Given the description of an element on the screen output the (x, y) to click on. 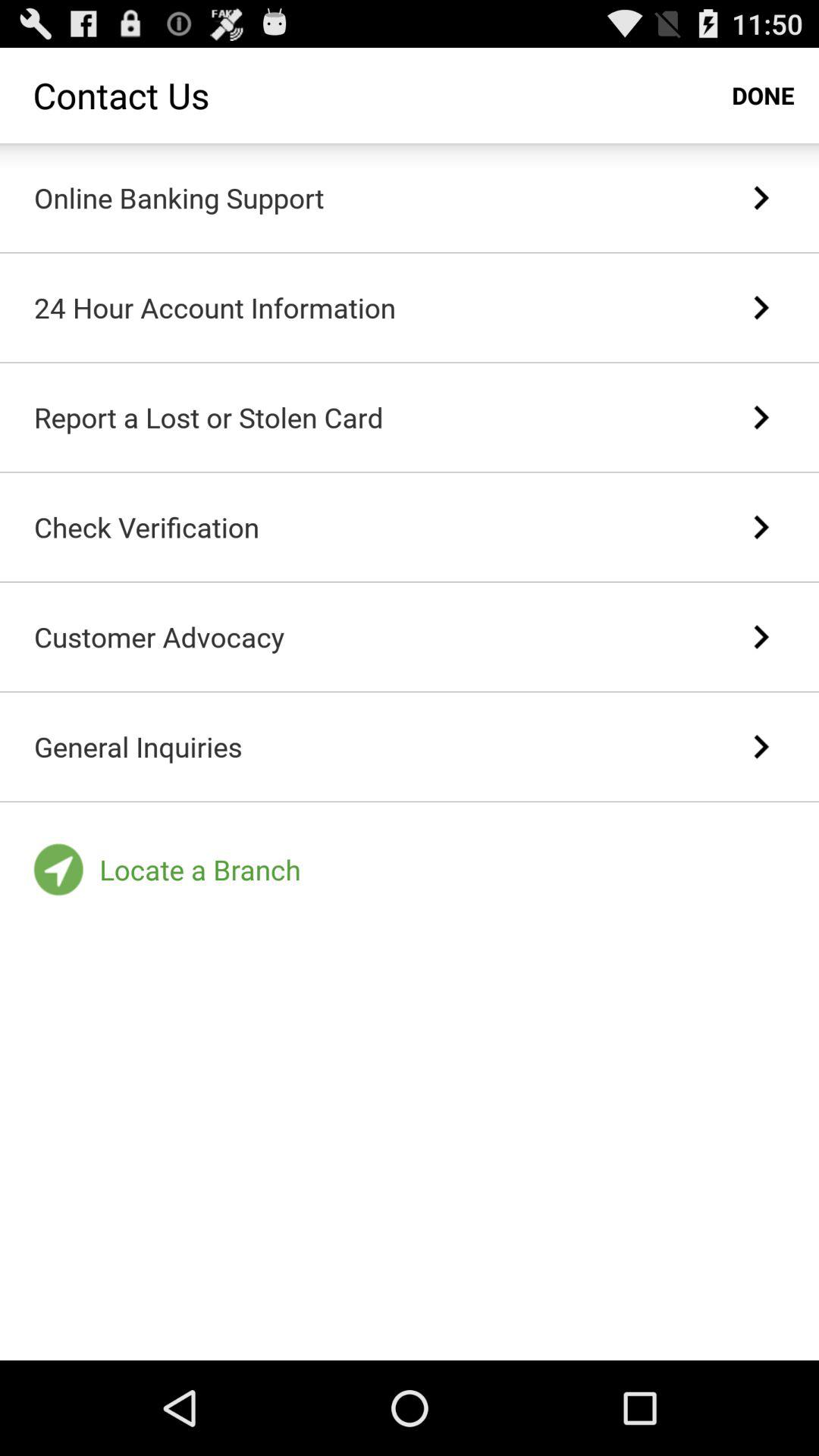
choose item next to the contact us (763, 95)
